Given the description of an element on the screen output the (x, y) to click on. 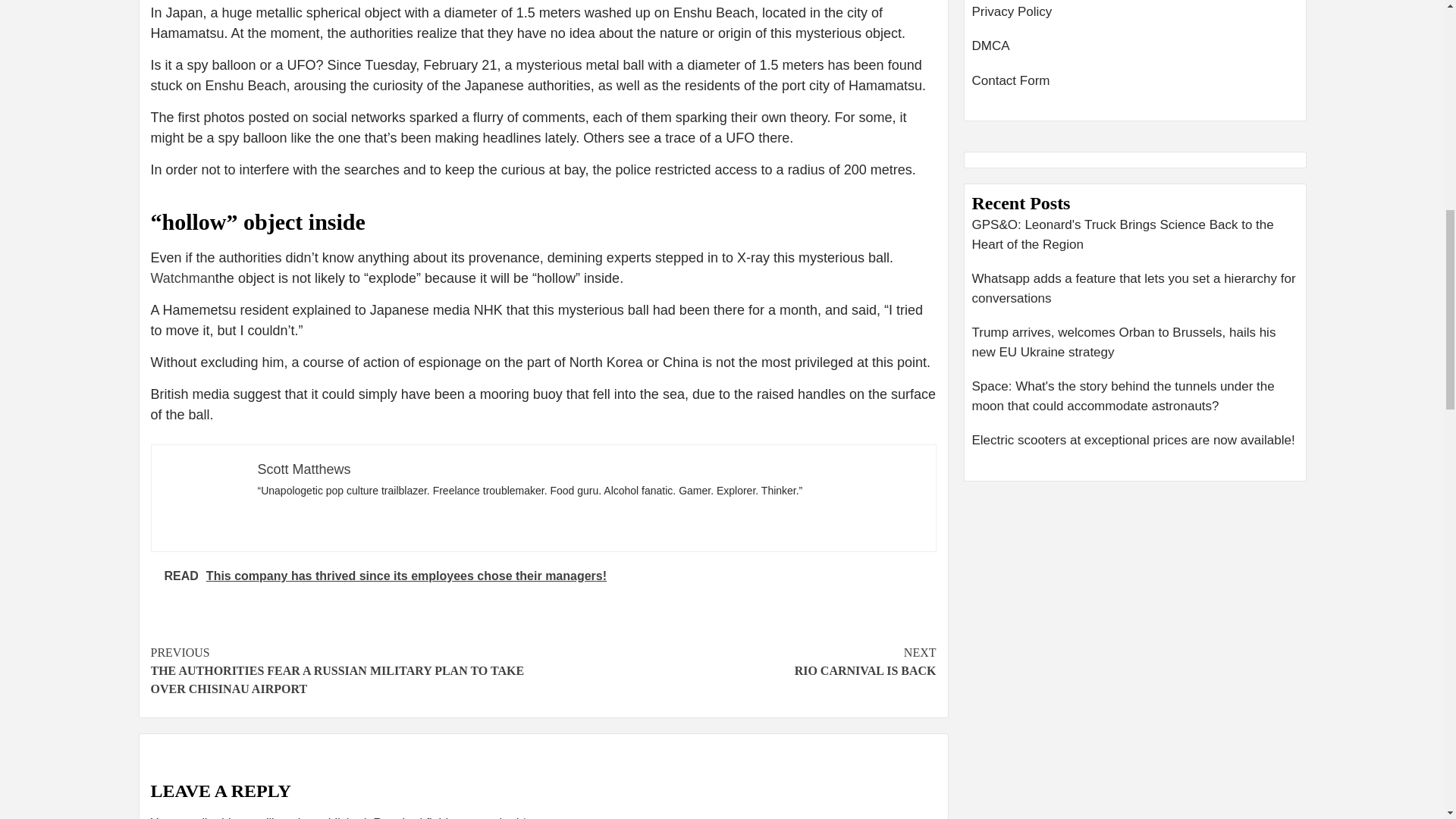
Scott Matthews (739, 661)
Watchman (303, 468)
